Given the description of an element on the screen output the (x, y) to click on. 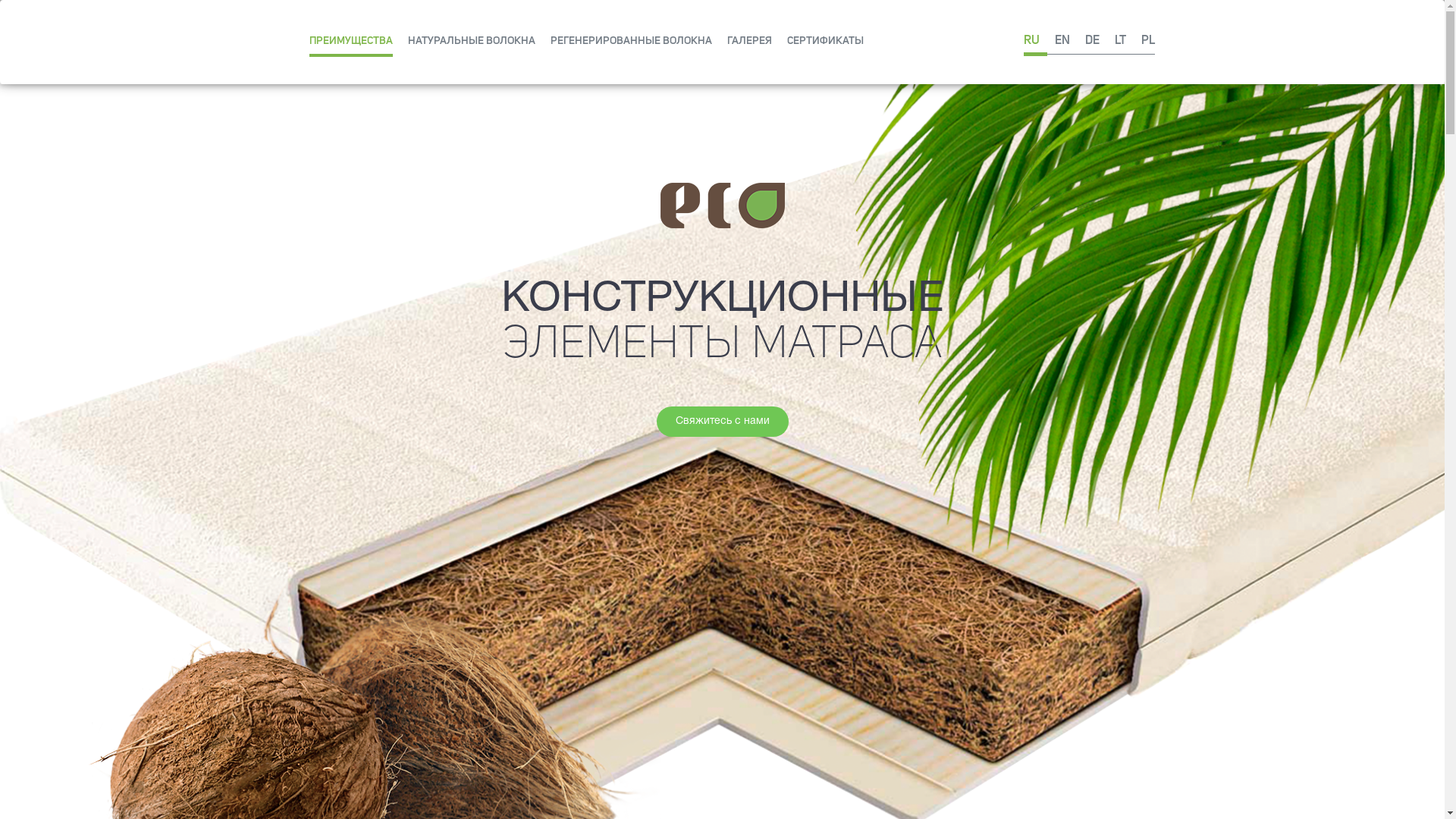
PL Element type: text (1143, 27)
DE Element type: text (1091, 27)
LT Element type: text (1120, 27)
RU Element type: text (1035, 30)
EN Element type: text (1061, 27)
